Given the description of an element on the screen output the (x, y) to click on. 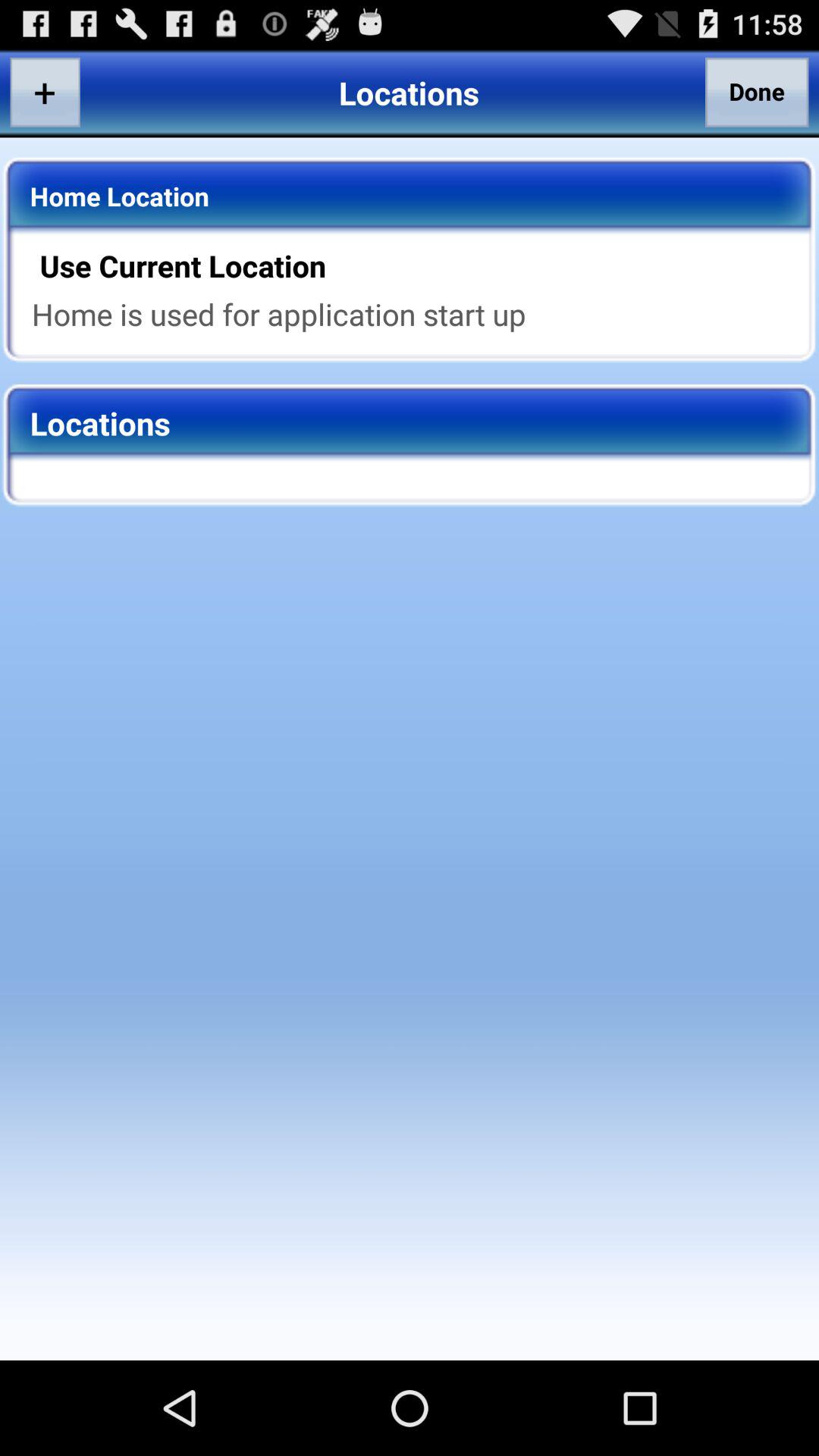
select the + icon (45, 92)
